Given the description of an element on the screen output the (x, y) to click on. 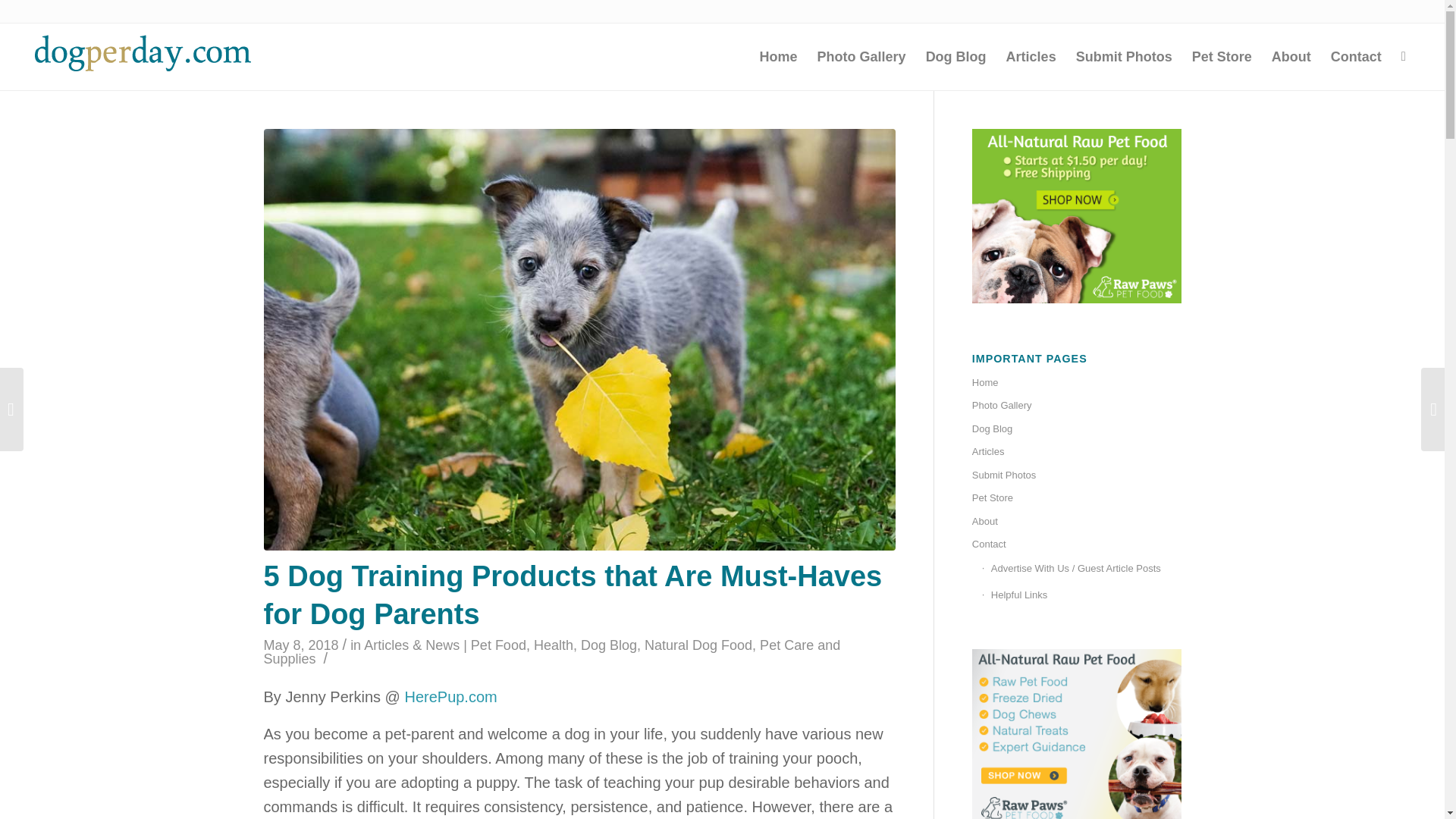
Submit Photos (1076, 475)
Photo Gallery (1076, 404)
Dog Blog (608, 645)
Contact (1076, 544)
Natural Dog Food, Pet Care and Supplies (552, 652)
Pet Store (1076, 497)
Articles (1030, 56)
Submit Photos (1123, 56)
HerePup.com (450, 696)
Photo Gallery (861, 56)
Contact (1355, 56)
Home (1076, 382)
Dog Blog (1076, 428)
Helpful Links (1080, 595)
